Given the description of an element on the screen output the (x, y) to click on. 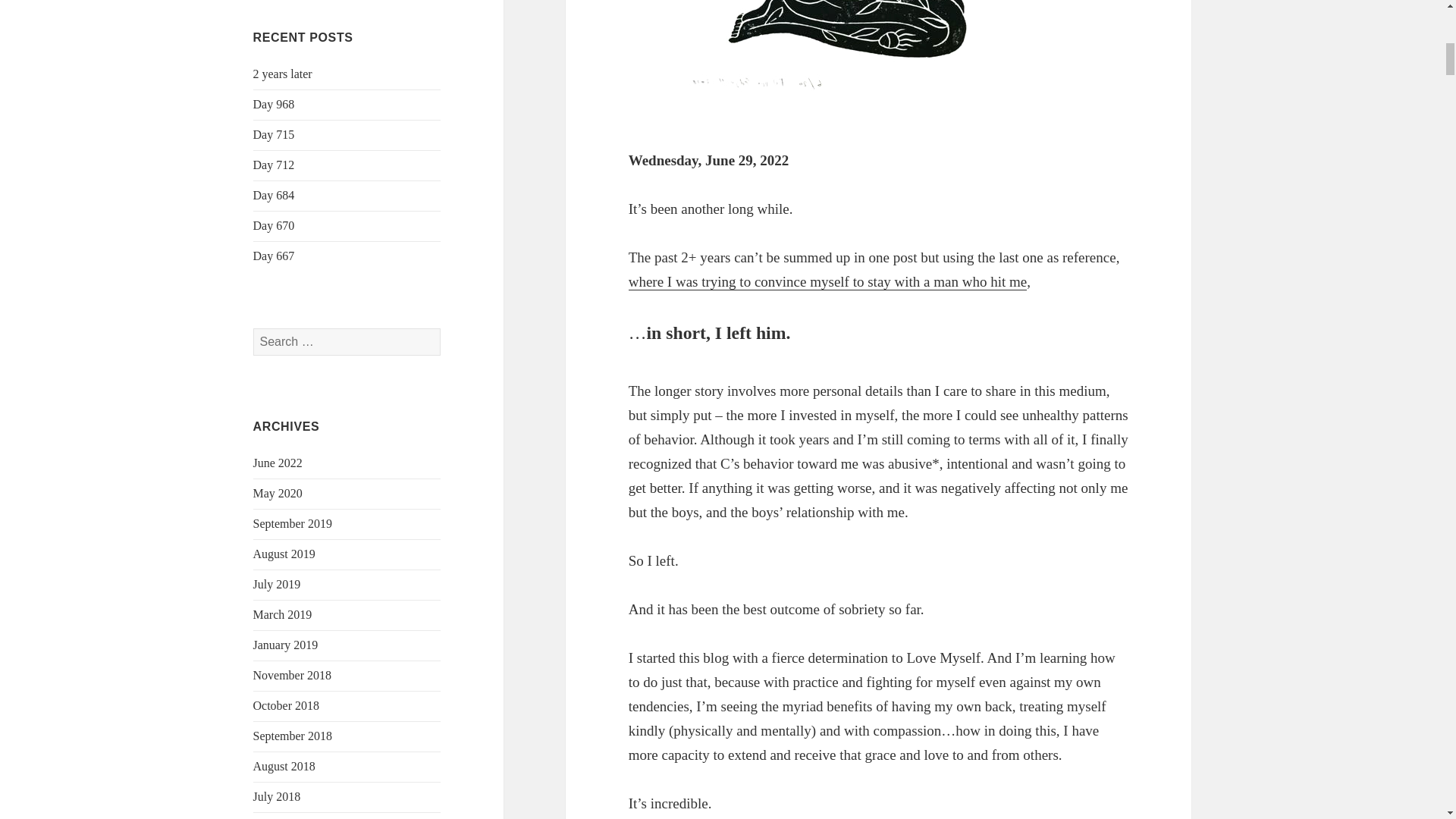
July 2019 (277, 584)
Day 715 (274, 133)
June 2022 (277, 462)
January 2019 (285, 644)
Day 968 (274, 103)
Day 712 (274, 164)
September 2018 (292, 735)
May 2020 (277, 492)
September 2019 (292, 522)
October 2018 (286, 705)
July 2018 (277, 796)
